Given the description of an element on the screen output the (x, y) to click on. 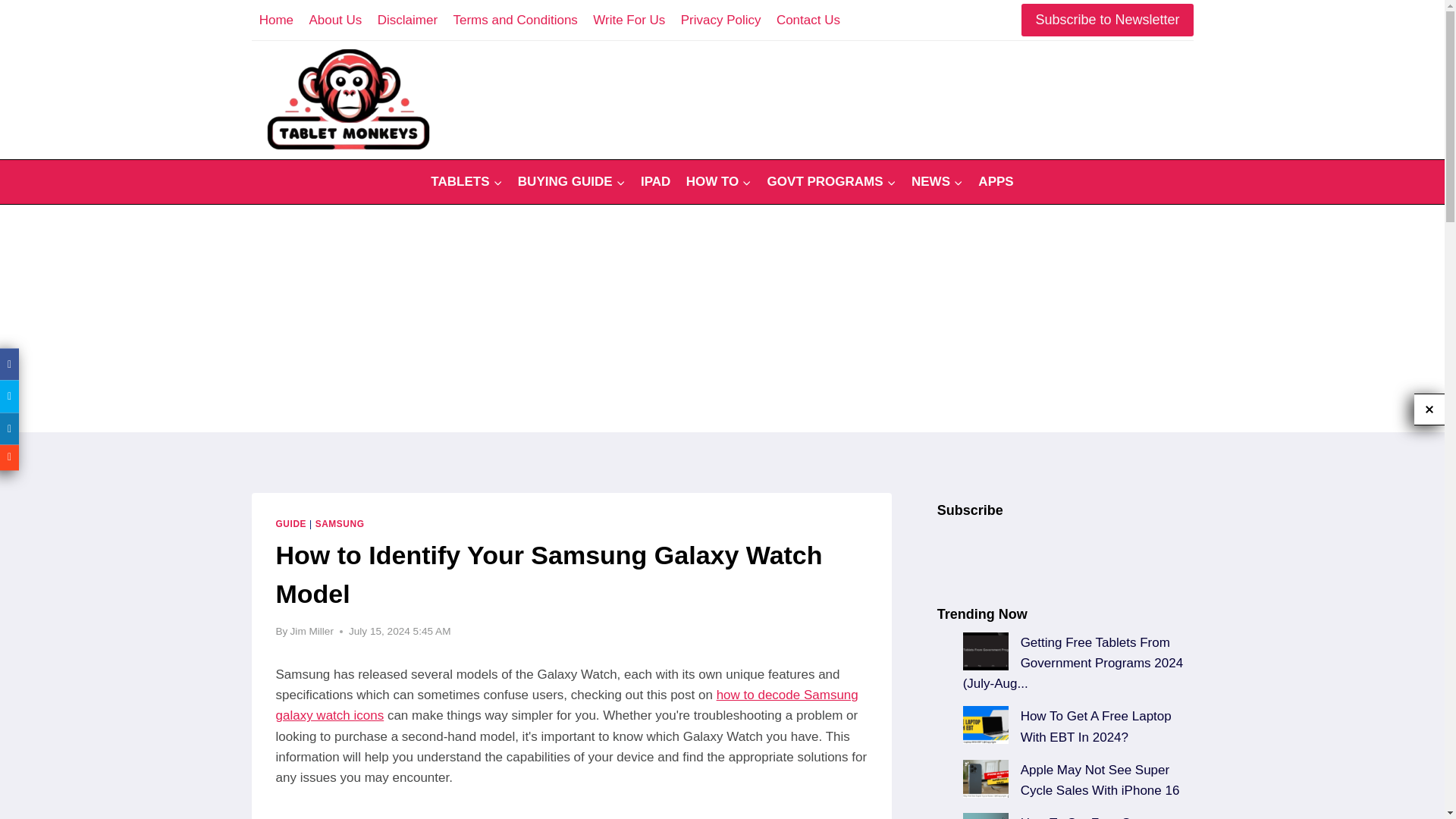
how to decode Samsung galaxy watch icons (567, 704)
Subscribe to Newsletter (1107, 20)
Jim Miller (311, 631)
APPS (996, 181)
BUYING GUIDE (572, 181)
GUIDE (291, 523)
HOW TO (718, 181)
Privacy Policy (720, 19)
TABLETS (467, 181)
Terms and Conditions (515, 19)
Home (276, 19)
GOVT PROGRAMS (830, 181)
About Us (335, 19)
Write For Us (628, 19)
